Given the description of an element on the screen output the (x, y) to click on. 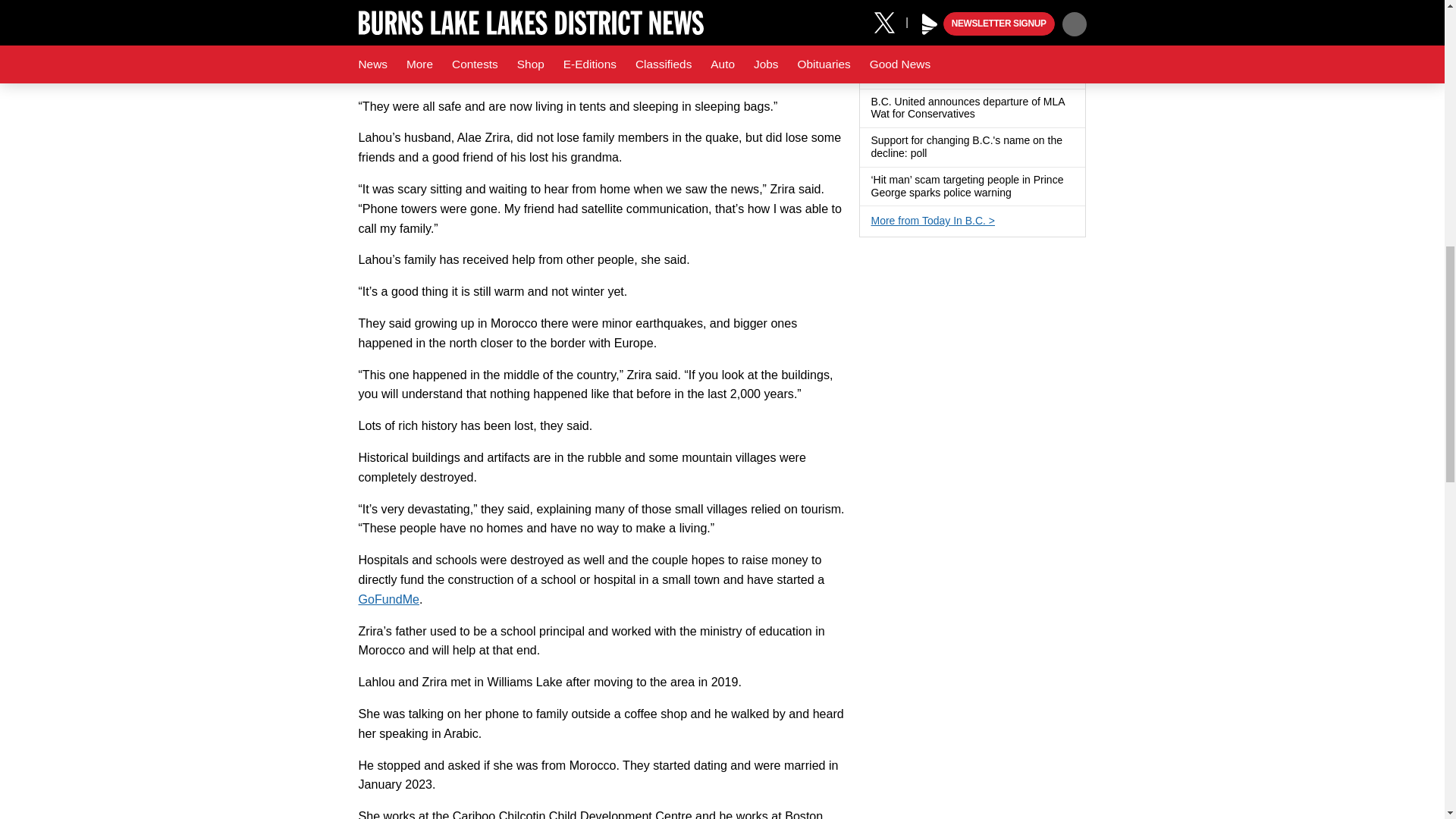
Has a gallery (984, 36)
